Given the description of an element on the screen output the (x, y) to click on. 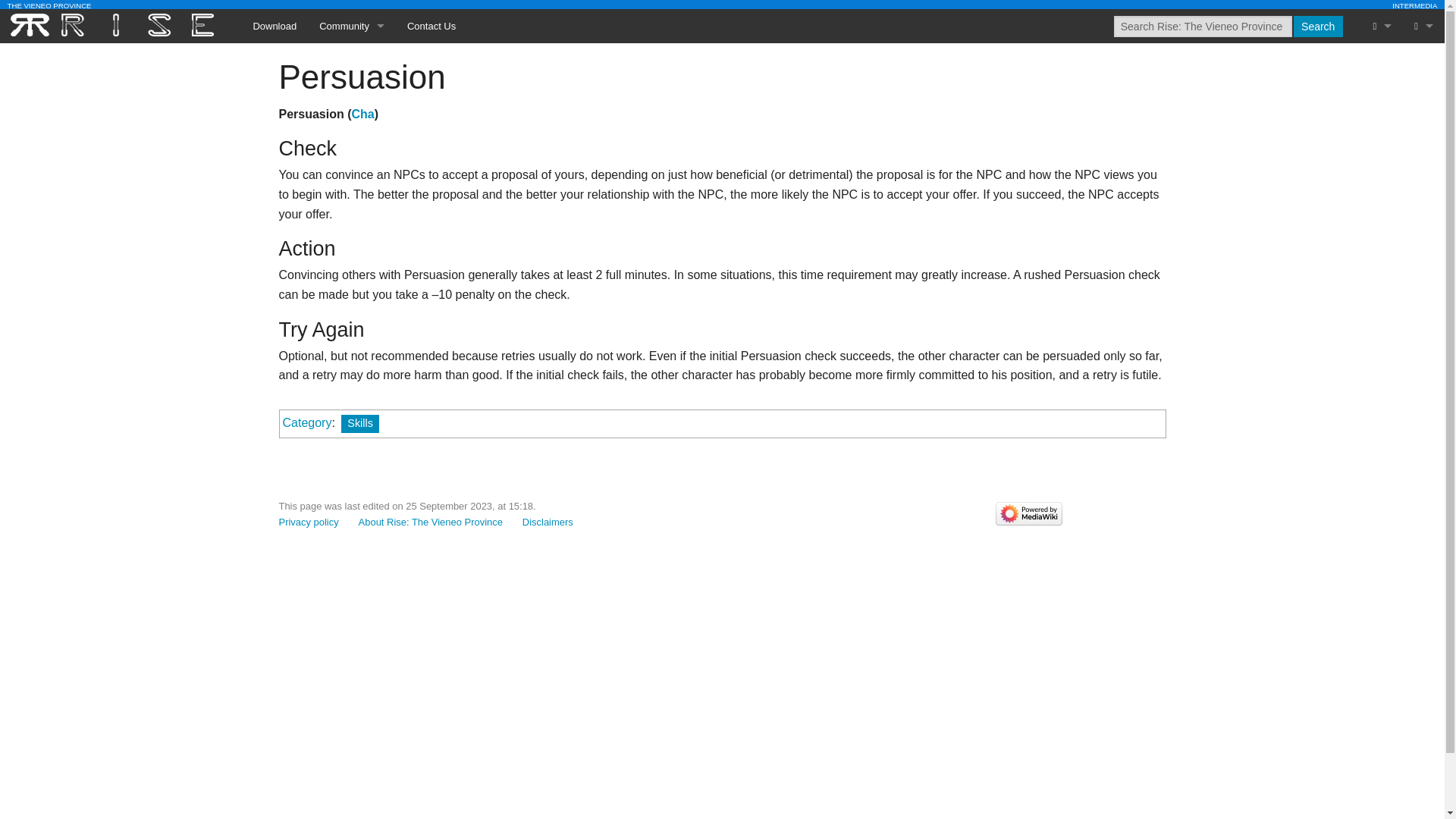
Category (306, 422)
Category:Skills (359, 423)
About Rise: The Vieneo Province (430, 521)
Page information (1382, 230)
Leaderboard (351, 93)
Contact Us (431, 26)
Related changes (1382, 93)
Cha (363, 113)
More information about this page (1382, 230)
Activity (351, 128)
